Given the description of an element on the screen output the (x, y) to click on. 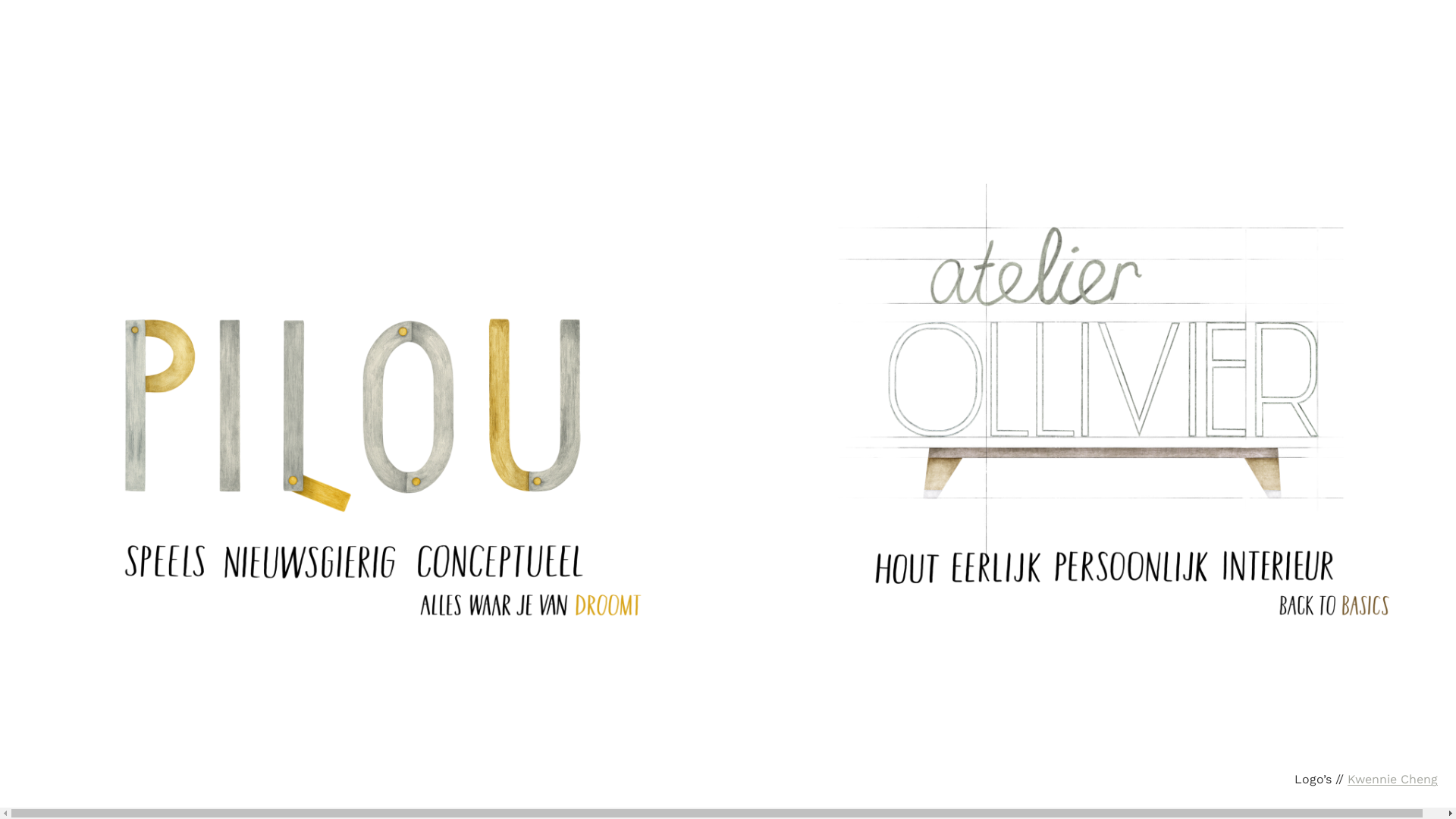
Kwennie Cheng Element type: text (1392, 778)
